Given the description of an element on the screen output the (x, y) to click on. 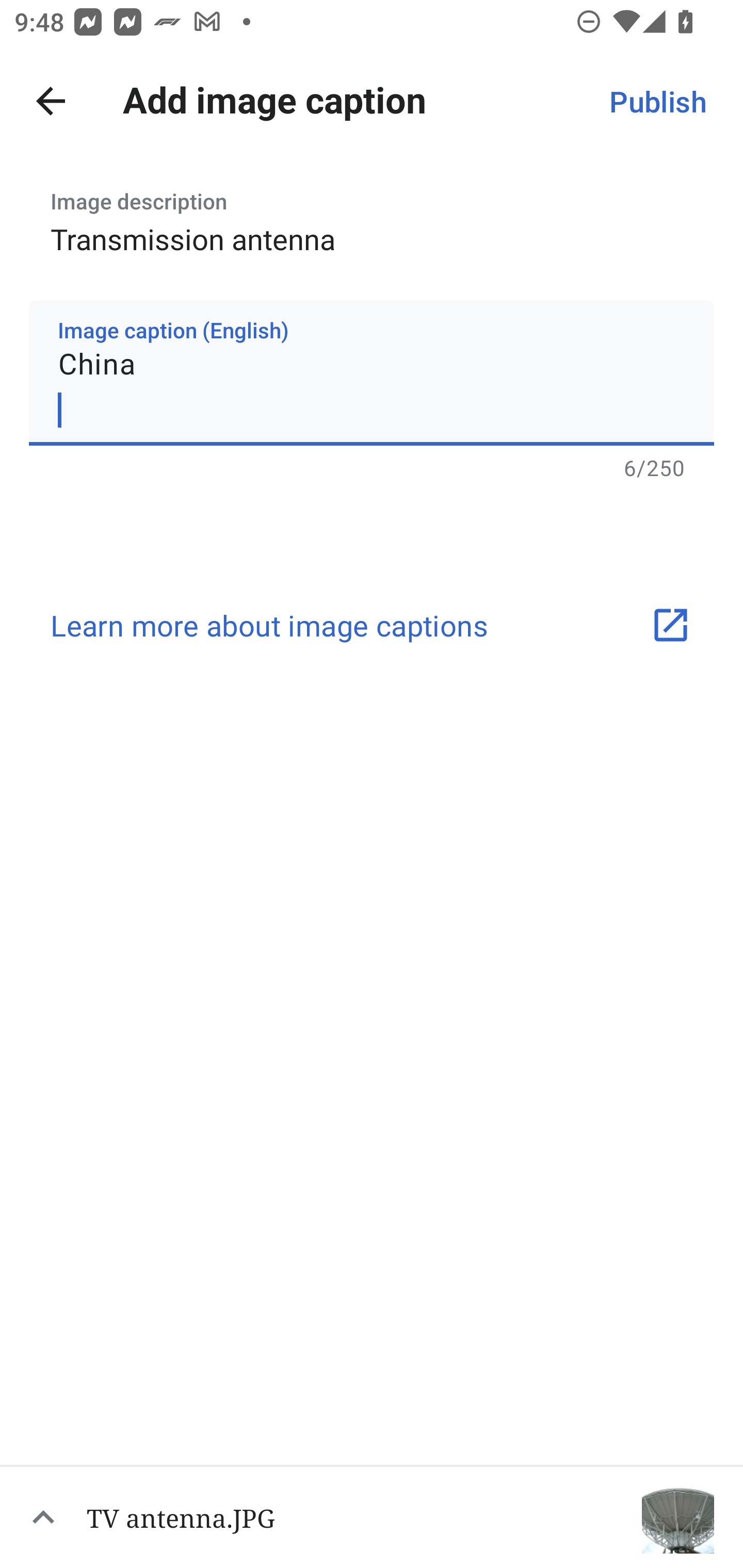
Cancel (50, 101)
Publish (657, 101)
Image description Transmission antenna (371, 215)
China
 (371, 372)
Learn more about image captions (371, 624)
TV antenna.JPG (371, 1516)
